Given the description of an element on the screen output the (x, y) to click on. 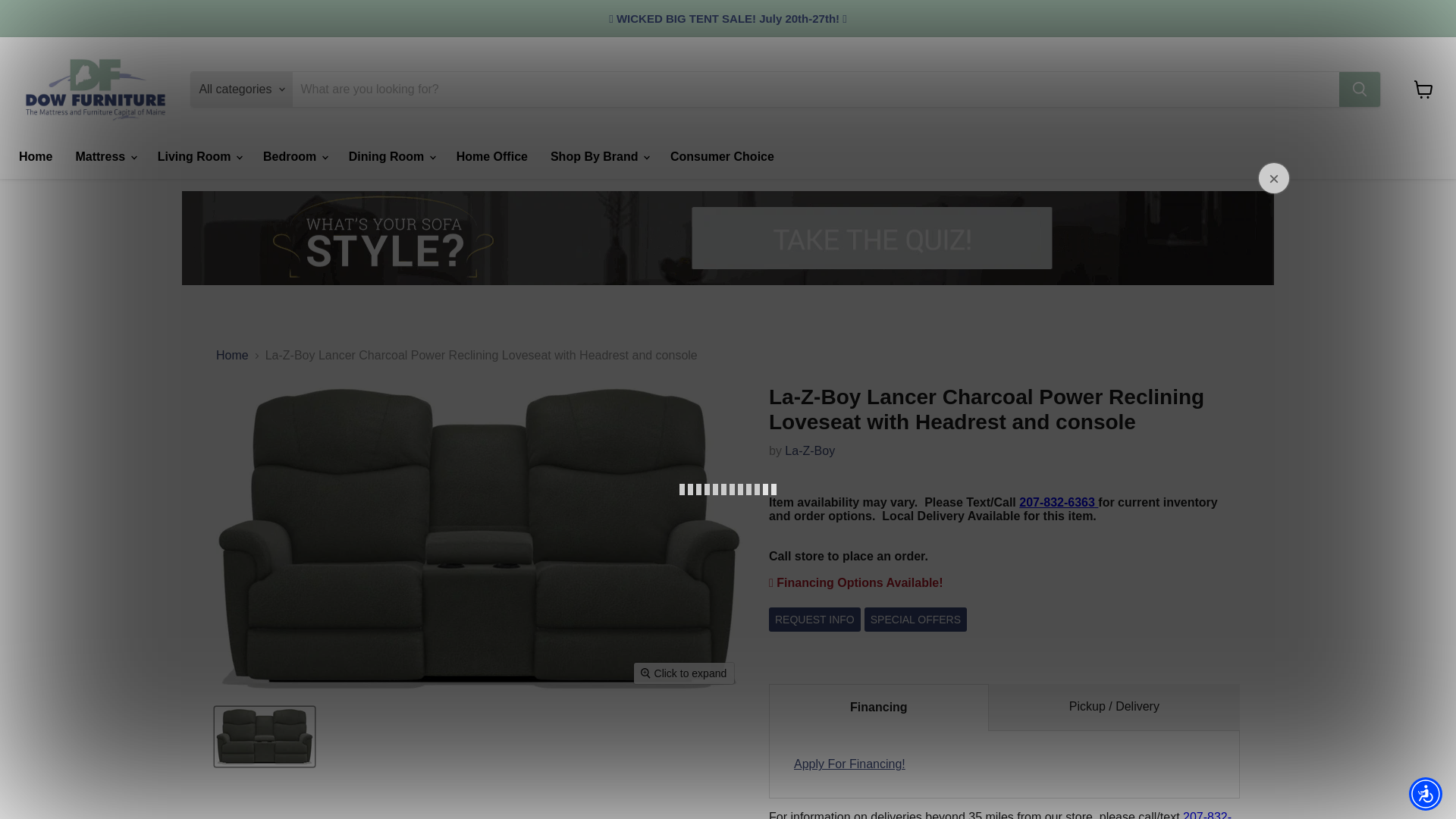
Financing (849, 763)
tel:207-832-6363 (1058, 502)
Home (35, 156)
tel:207-832-6363 (999, 814)
La-Z-Boy (809, 450)
View cart (1423, 89)
Accessibility Menu (1425, 793)
